Given the description of an element on the screen output the (x, y) to click on. 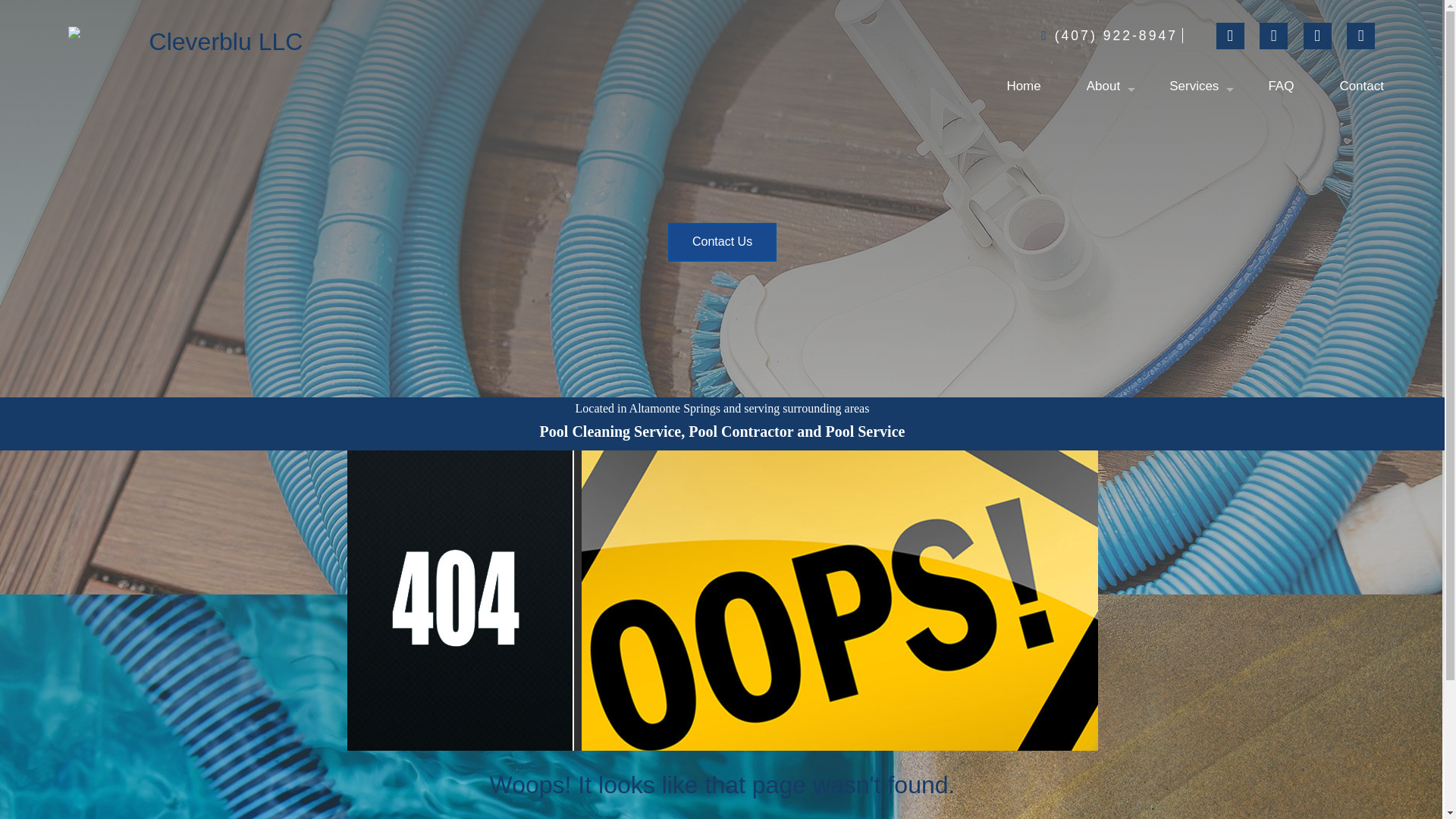
Pool Start-Up (1195, 163)
FAQ (1280, 85)
From Green to Clever-Blue (1195, 190)
Home (1023, 85)
 Follow us on LinkedIn (1320, 36)
Pool Cleaning (1195, 216)
Pool Contractor (1195, 270)
Commercial Pool Service (1195, 110)
Google Reviews (1363, 36)
Service Areas (1195, 323)
